Given the description of an element on the screen output the (x, y) to click on. 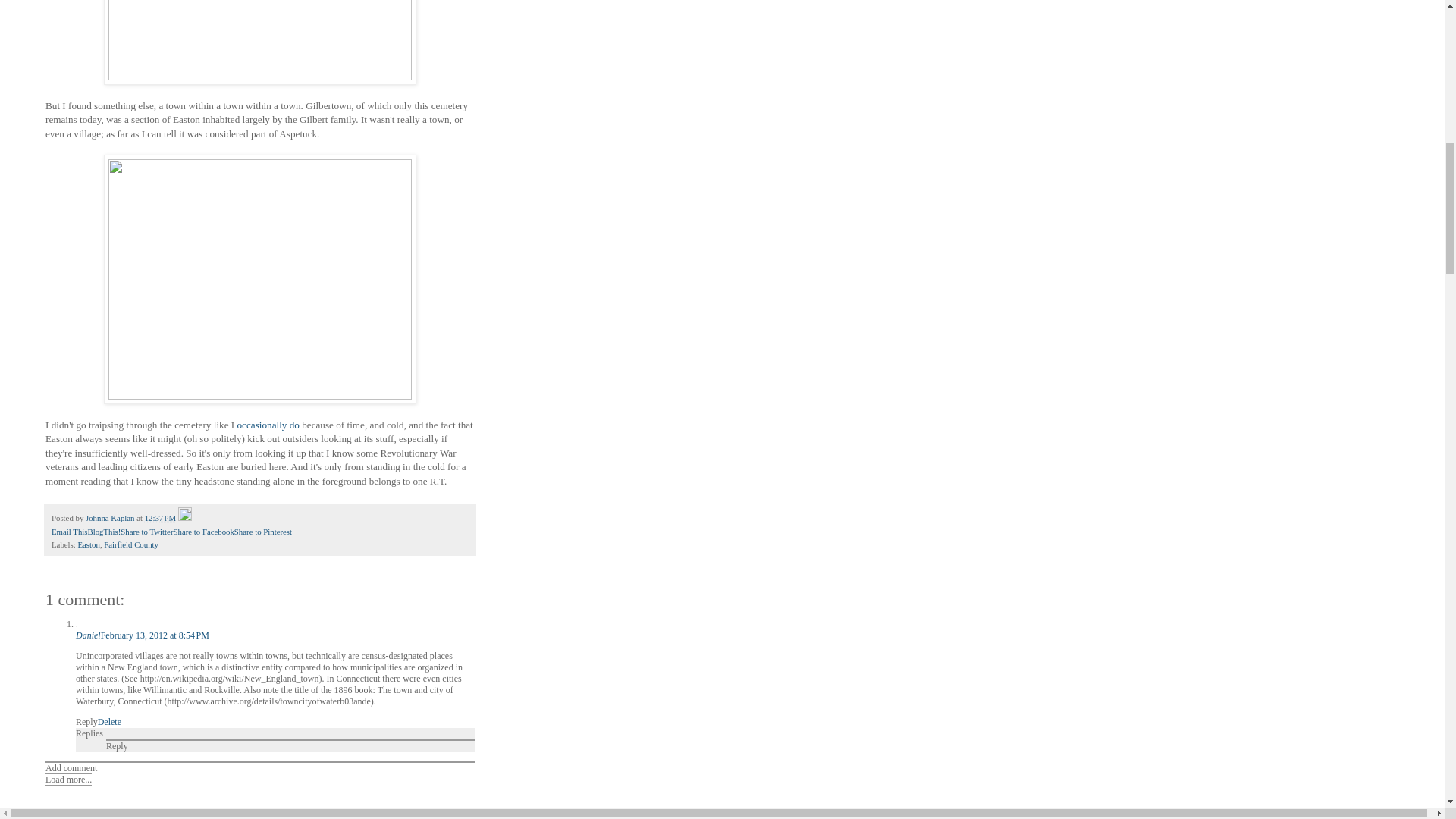
Edit Post (184, 517)
Reply (86, 721)
BlogThis! (103, 531)
Add comment (71, 767)
Easton (88, 543)
permanent link (160, 517)
Load more... (68, 779)
Email This (68, 531)
BlogThis! (103, 531)
Delete (108, 721)
Share to Twitter (146, 531)
Share to Facebook (202, 531)
Share to Twitter (146, 531)
Johnna Kaplan (110, 517)
